Given the description of an element on the screen output the (x, y) to click on. 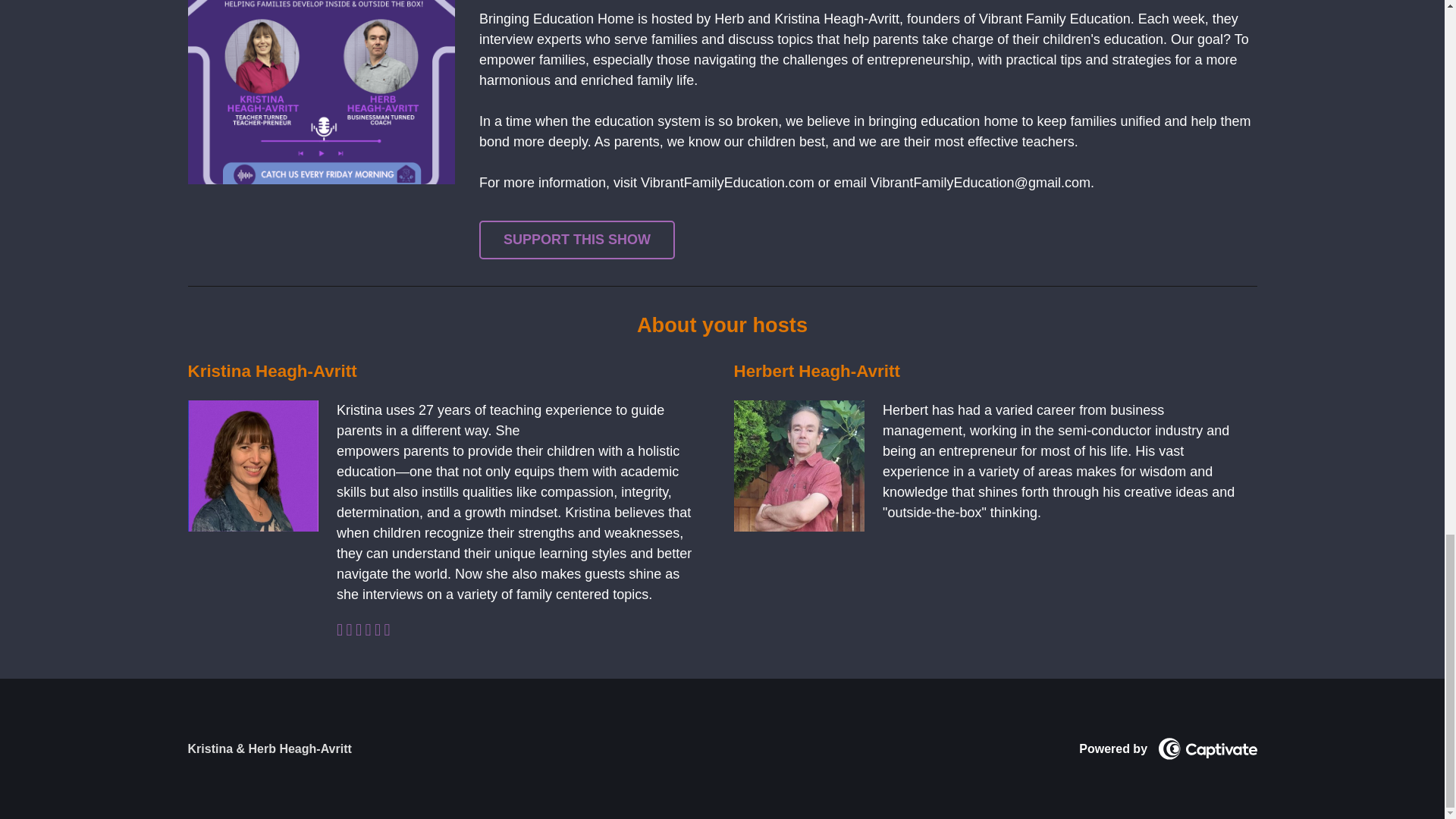
SUPPORT THIS SHOW (577, 239)
